Given the description of an element on the screen output the (x, y) to click on. 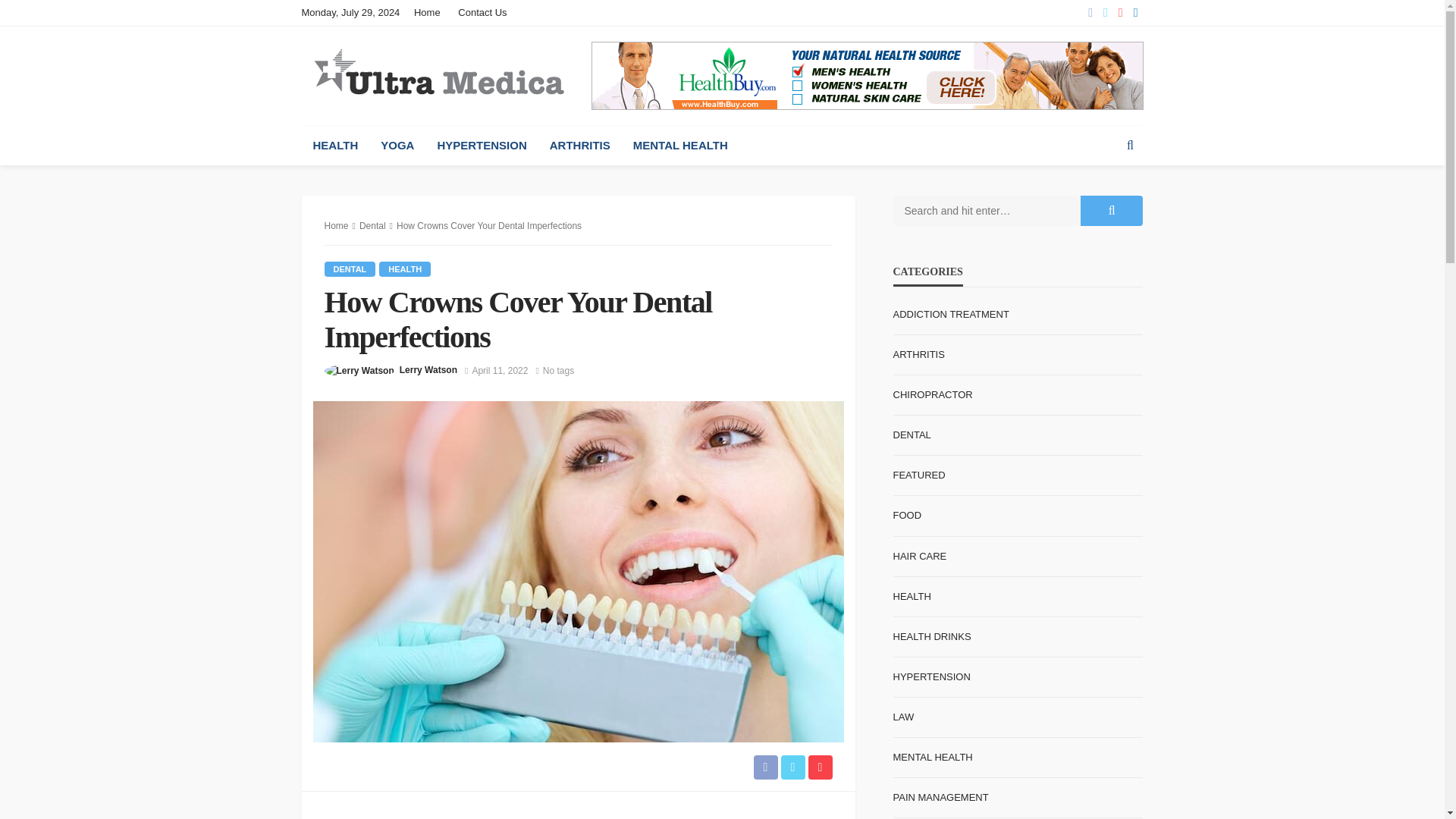
Dental (349, 268)
Search for: (986, 210)
Health (404, 268)
Ultra Medica (438, 73)
